Given the description of an element on the screen output the (x, y) to click on. 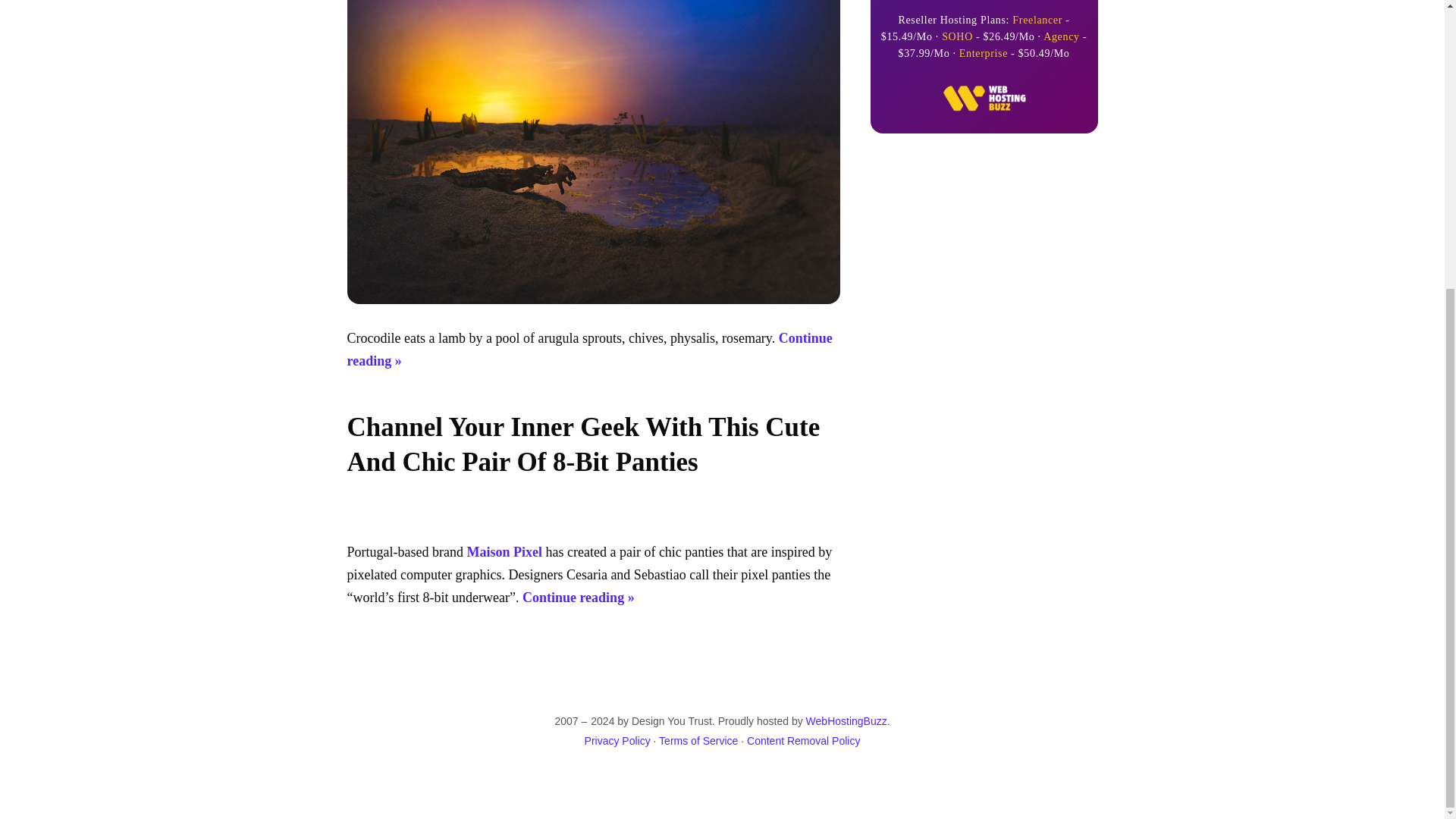
Privacy Policy (617, 740)
WebHostingBuzz (846, 720)
Content Removal Policy (803, 740)
Maison Pixel (503, 551)
Terms of Service (698, 740)
